Given the description of an element on the screen output the (x, y) to click on. 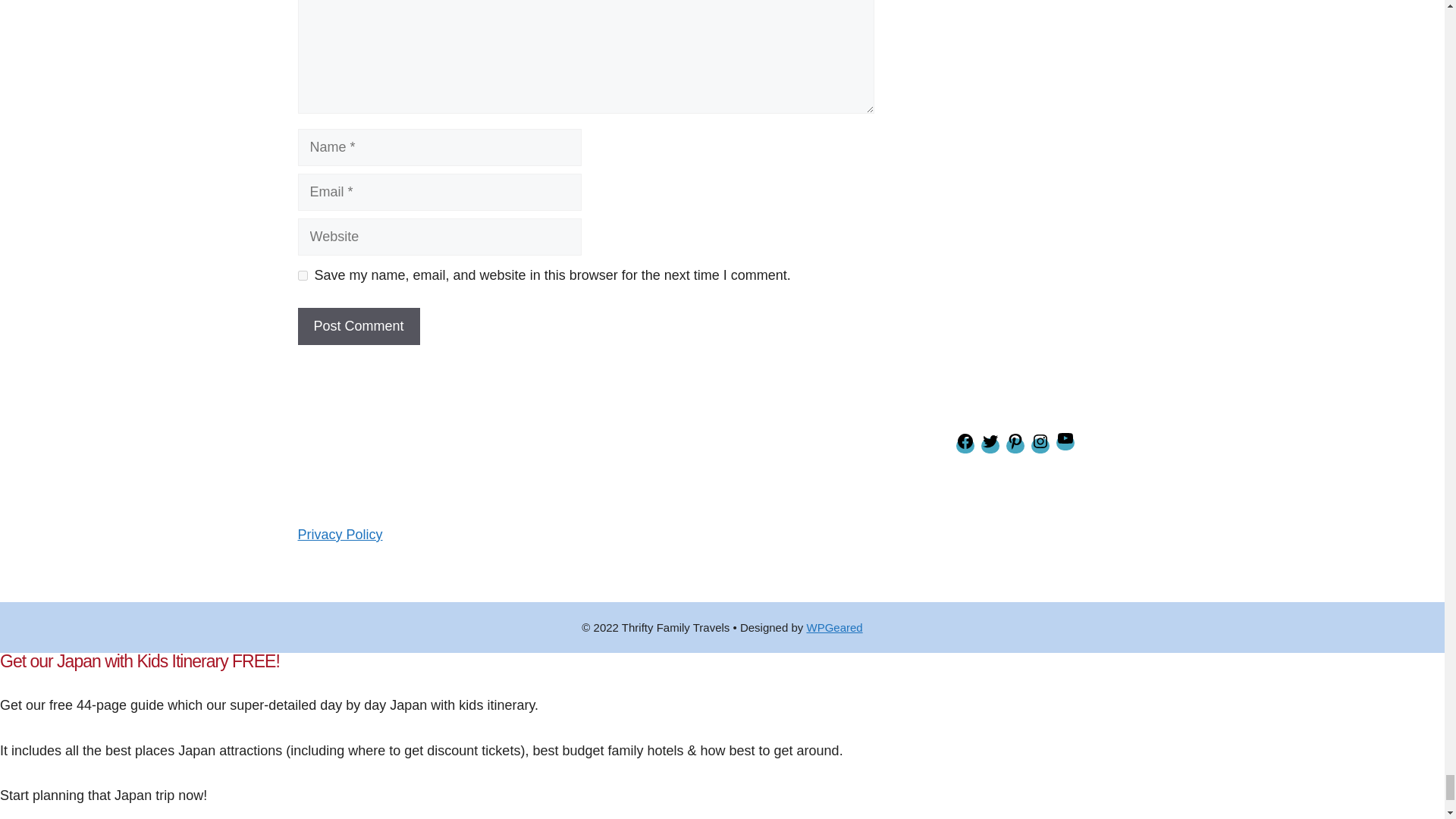
Post Comment (358, 325)
yes (302, 275)
